Given the description of an element on the screen output the (x, y) to click on. 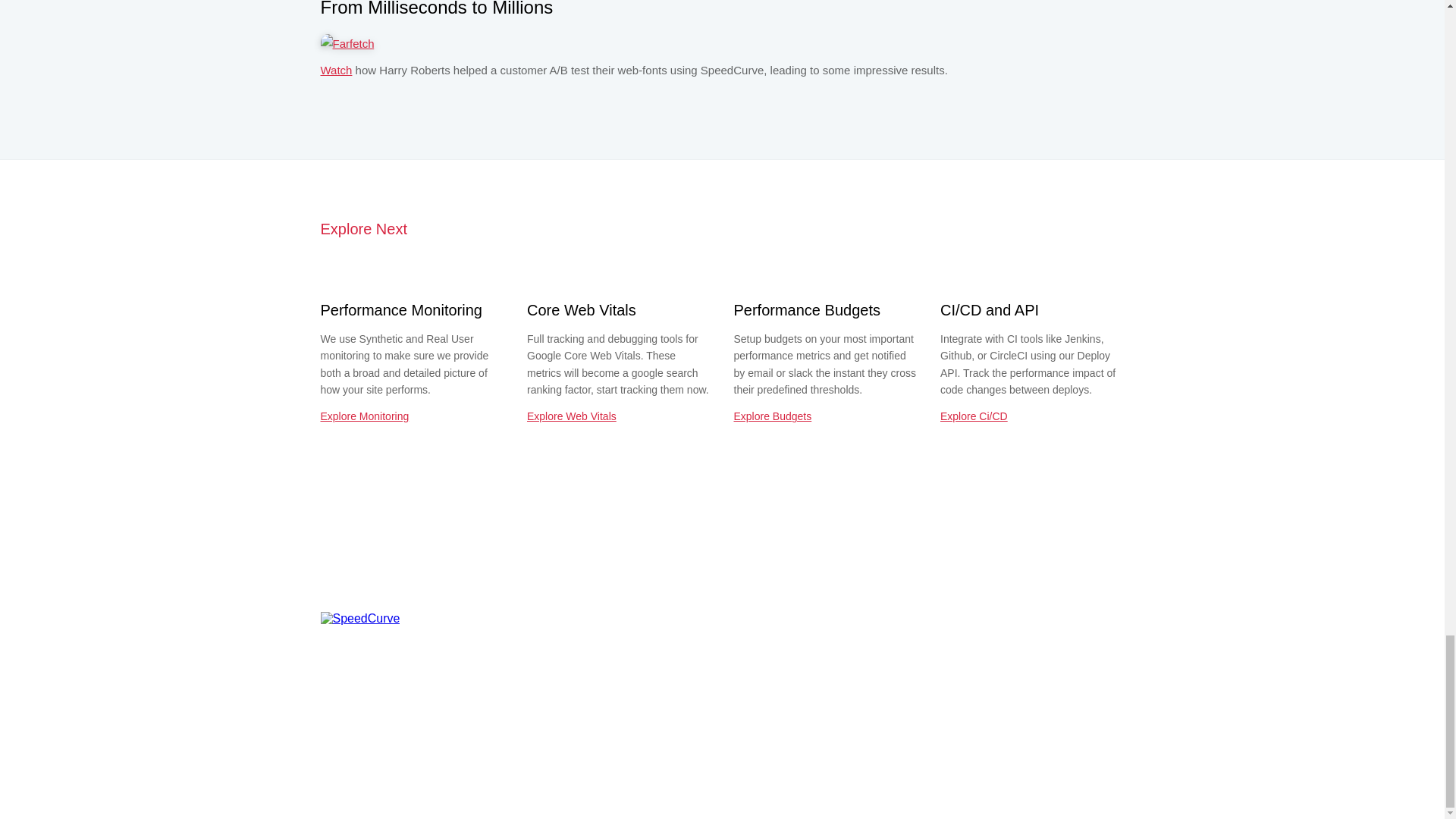
Explore Web Vitals (571, 416)
Explore Budgets (772, 416)
Explore Monitoring (364, 416)
Watch (336, 69)
